Given the description of an element on the screen output the (x, y) to click on. 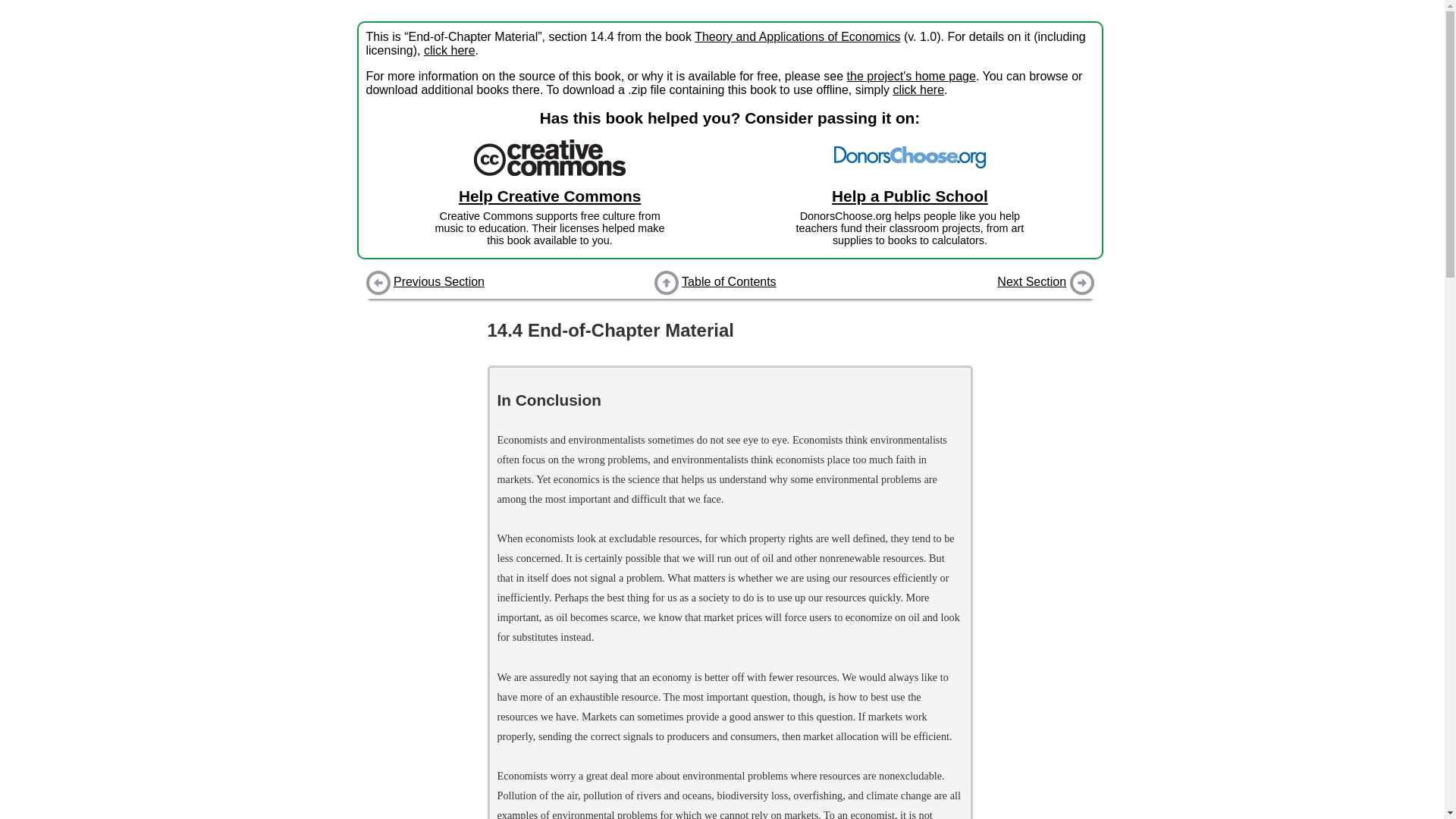
the project's home page (911, 75)
Table of Contents (729, 282)
click here (728, 281)
Help Creative Commons (449, 50)
Next Section (549, 195)
Previous Section (1031, 281)
click here (438, 281)
Help a Public School (917, 89)
Theory and Applications of Economics (909, 195)
